Given the description of an element on the screen output the (x, y) to click on. 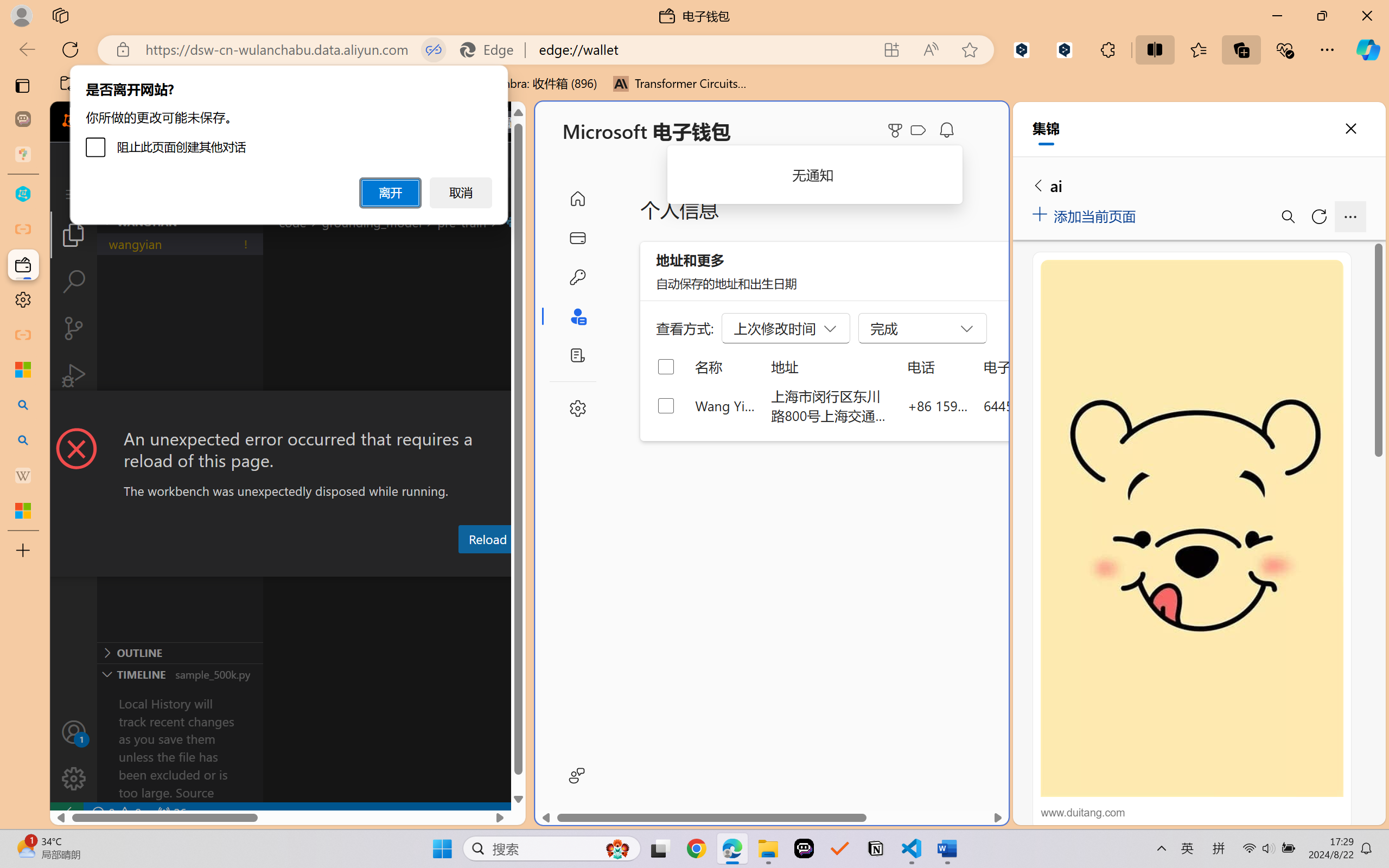
Extensions (Ctrl+Shift+X) (73, 422)
remote (66, 812)
Microsoft Rewards (896, 129)
No Problems (115, 812)
